Given the description of an element on the screen output the (x, y) to click on. 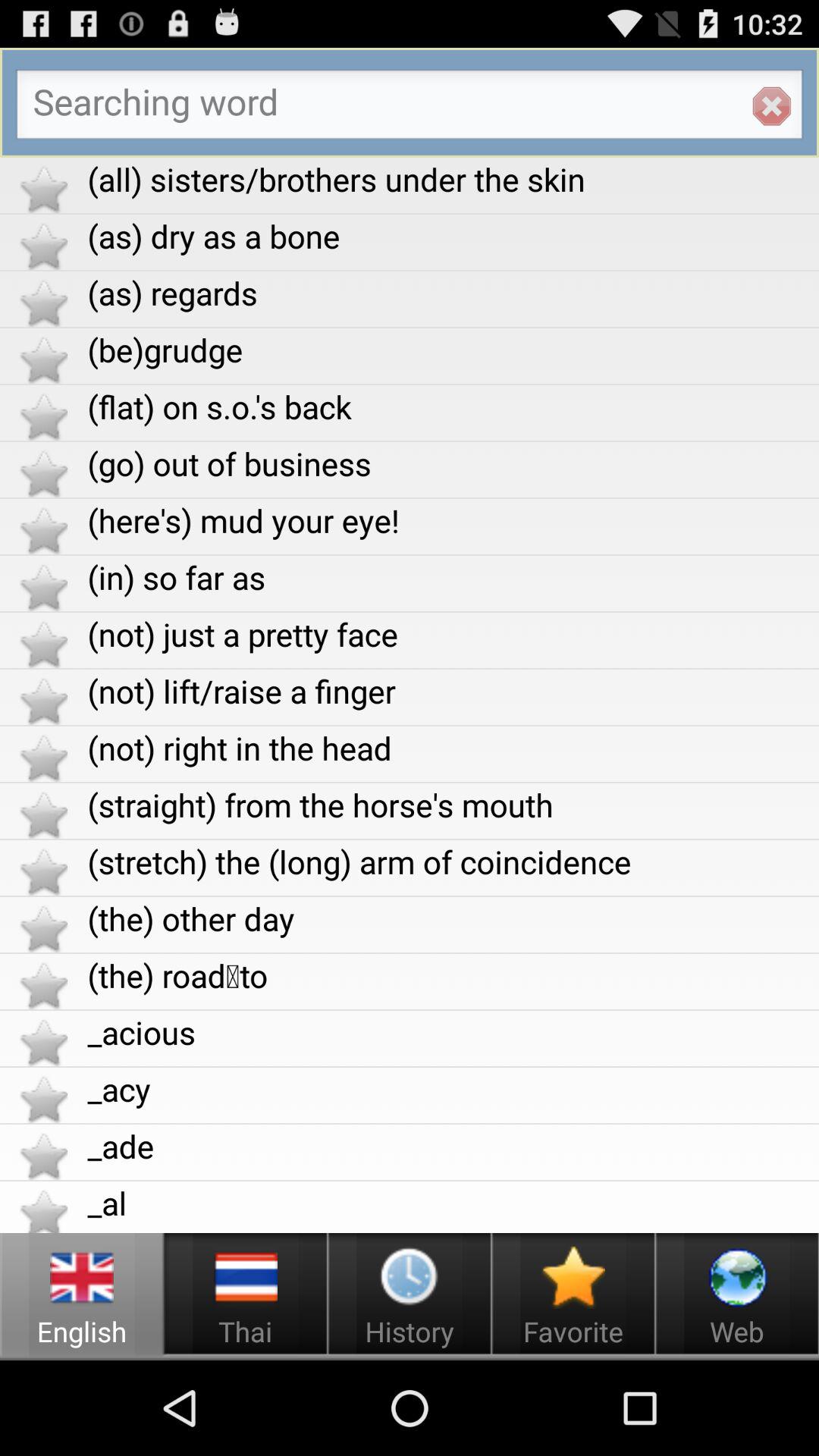
click app above _ade (453, 1088)
